Given the description of an element on the screen output the (x, y) to click on. 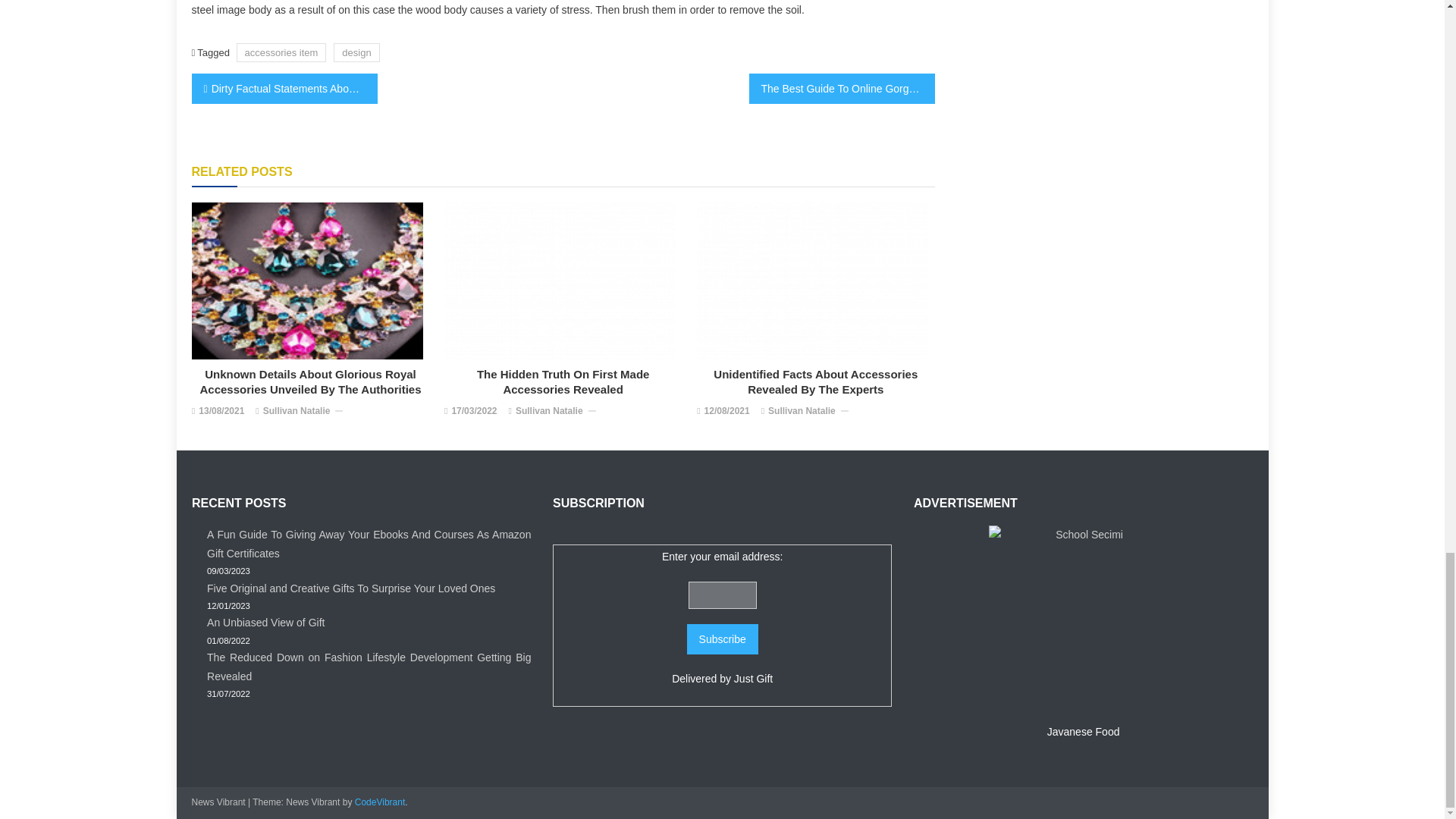
Unidentified Facts About Accessories Revealed By The Experts (815, 381)
design (355, 52)
Sullivan Natalie (549, 411)
School Secimi (1082, 619)
The Hidden Truth on First Made Accessories Revealed 4 (559, 280)
Sullivan Natalie (801, 411)
The Hidden Truth On First Made Accessories Revealed (562, 381)
Sullivan Natalie (296, 411)
The Best Guide To Online Gorgeous Gift Box Store (841, 88)
Subscribe (722, 639)
accessories item (280, 52)
